Given the description of an element on the screen output the (x, y) to click on. 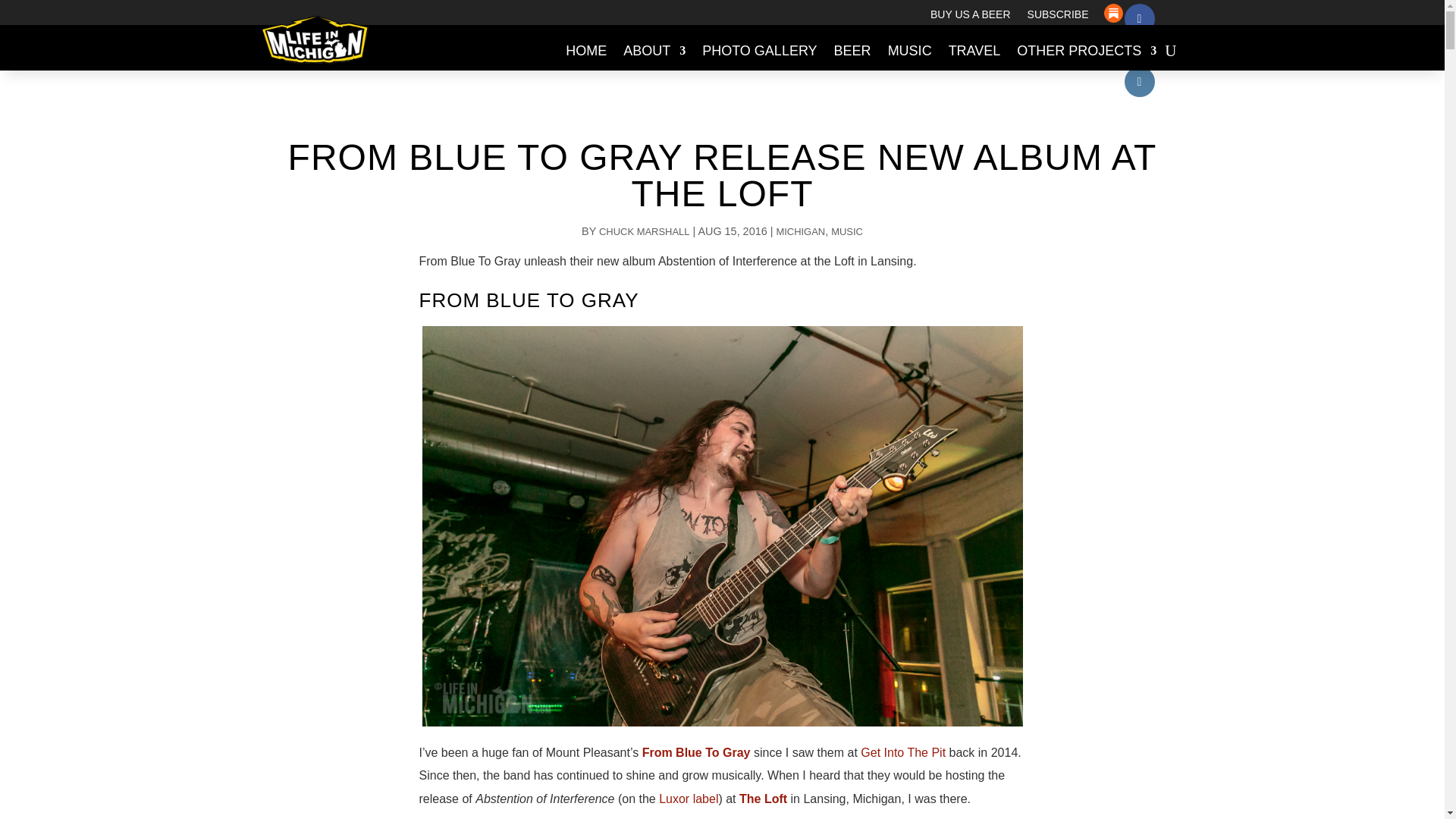
CHUCK MARSHALL (643, 231)
HOME (586, 50)
BUY US A BEER (970, 17)
MUSIC (847, 231)
MUSIC (909, 50)
BEER (852, 50)
SUBSCRIBE (1058, 17)
ABOUT (654, 50)
PHOTO GALLERY (758, 50)
Posts by Chuck Marshall (643, 231)
MICHIGAN (800, 231)
OTHER PROJECTS (1086, 50)
TRAVEL (975, 50)
